Given the description of an element on the screen output the (x, y) to click on. 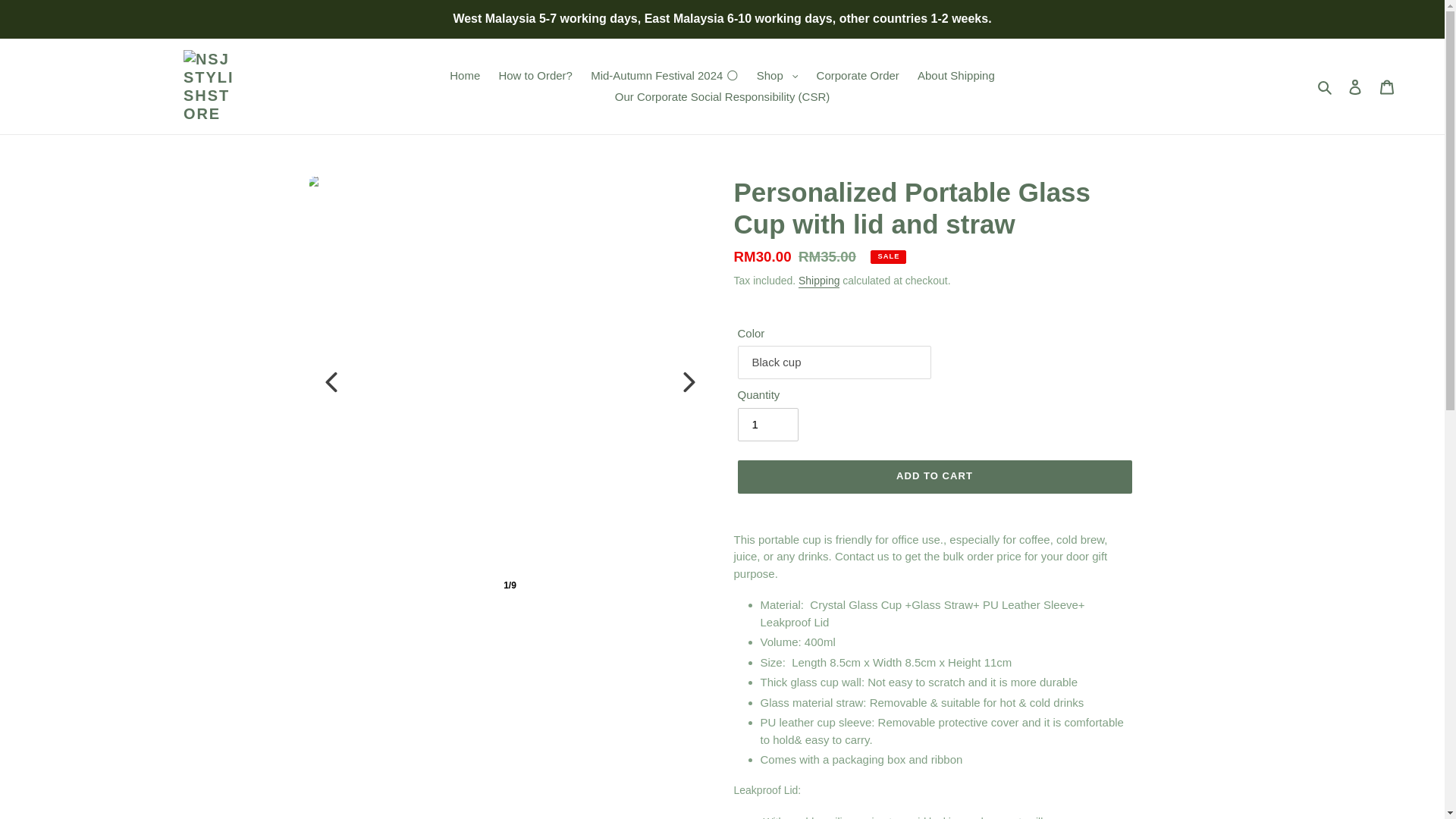
Cart (1387, 86)
How to Order? (534, 75)
Shop (777, 75)
Corporate Order (858, 75)
About Shipping (956, 75)
1 (766, 424)
Search (1326, 86)
Home (464, 75)
